Given the description of an element on the screen output the (x, y) to click on. 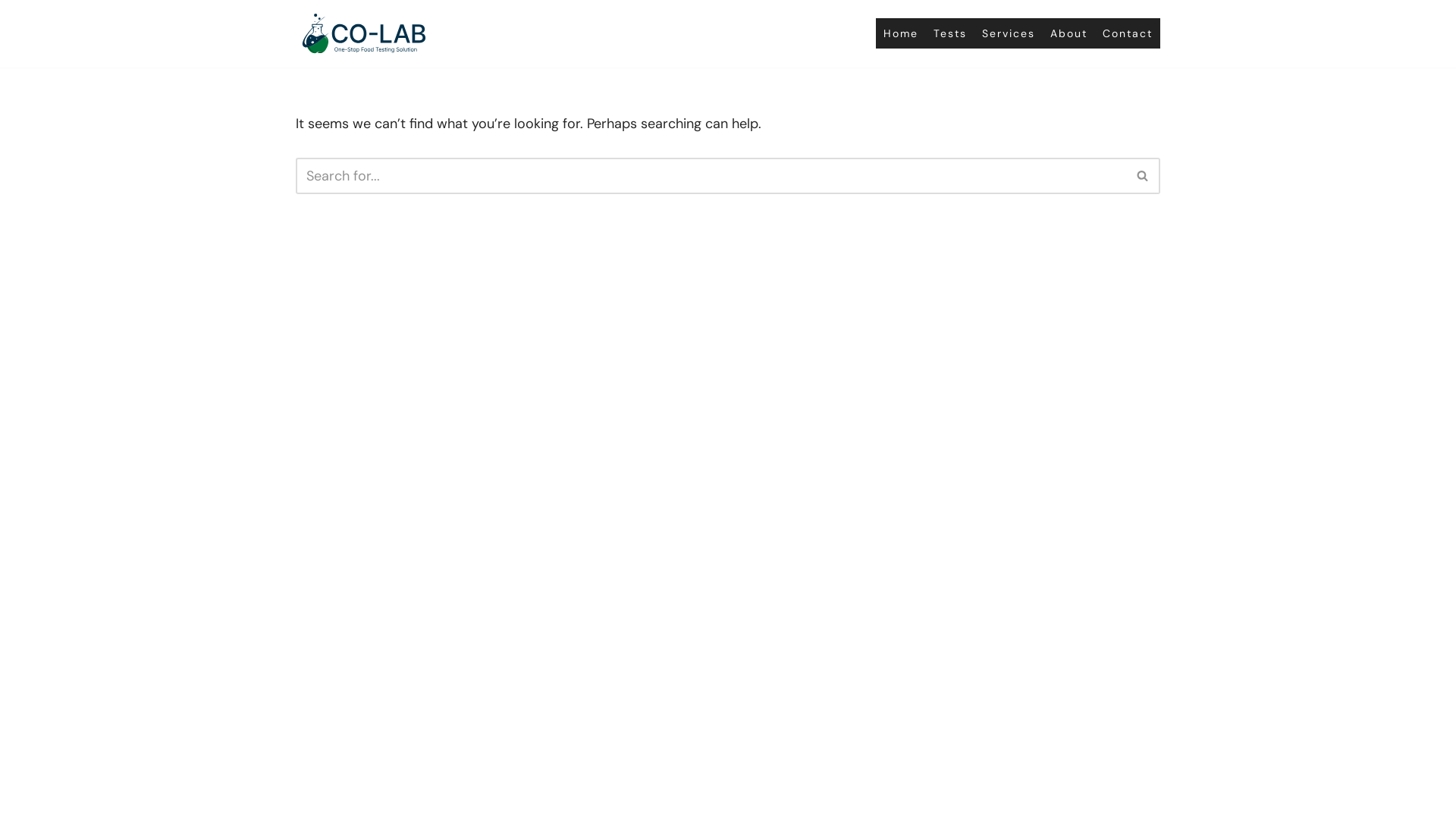
Neve Element type: text (310, 798)
Services Element type: text (1008, 33)
About Element type: text (1068, 33)
Contact Element type: text (1127, 33)
WordPress Element type: text (448, 798)
Skip to content Element type: text (11, 31)
Tests Element type: text (949, 33)
Home Element type: text (900, 33)
Co-Laboratory Element type: hover (363, 33)
